Given the description of an element on the screen output the (x, y) to click on. 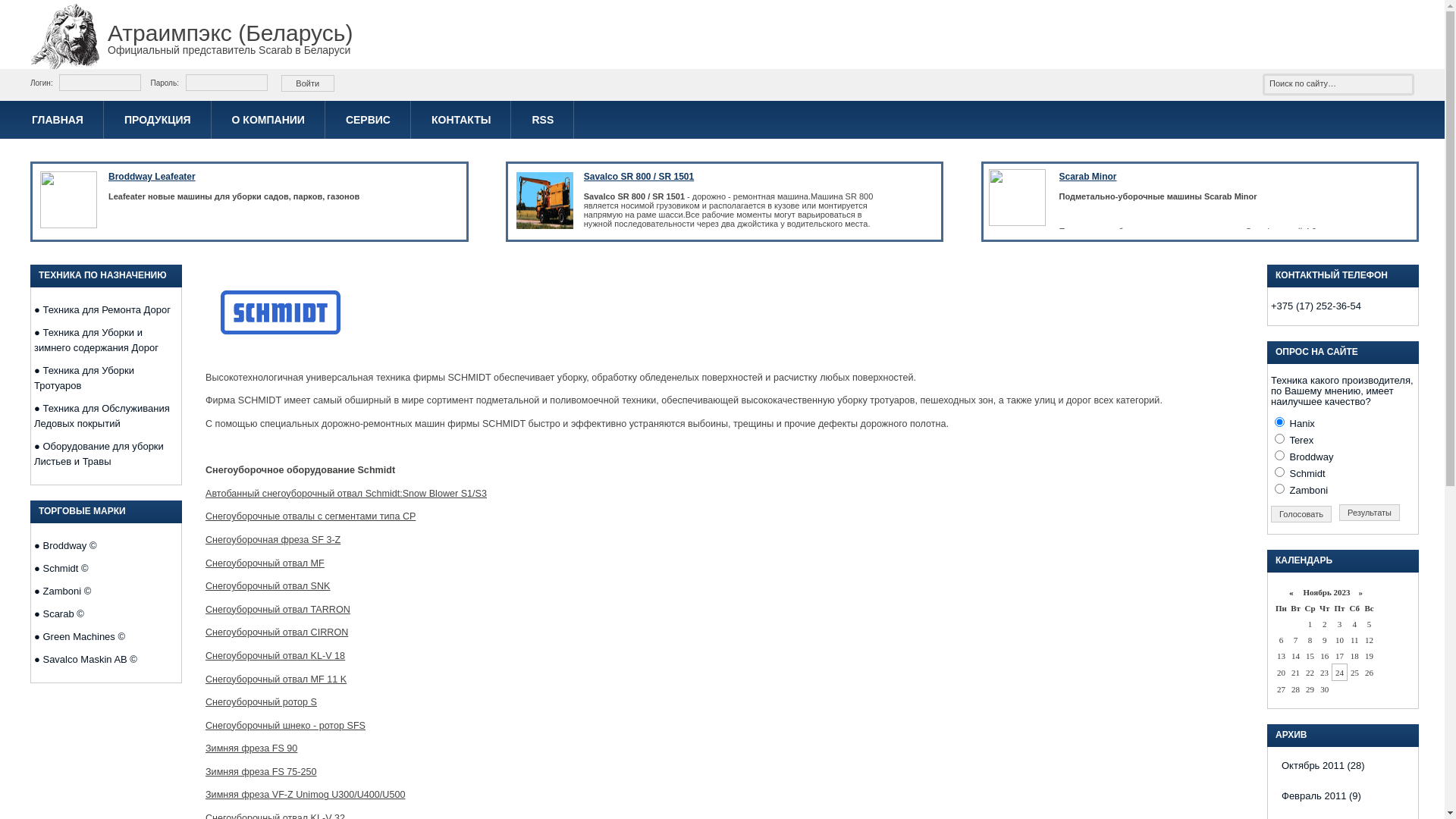
Scarab Minor Element type: text (1087, 176)
Broddway Leafeater Element type: text (151, 176)
Savalco SR 800 / SR 1501 Element type: text (638, 176)
RSS Element type: text (542, 119)
